Given the description of an element on the screen output the (x, y) to click on. 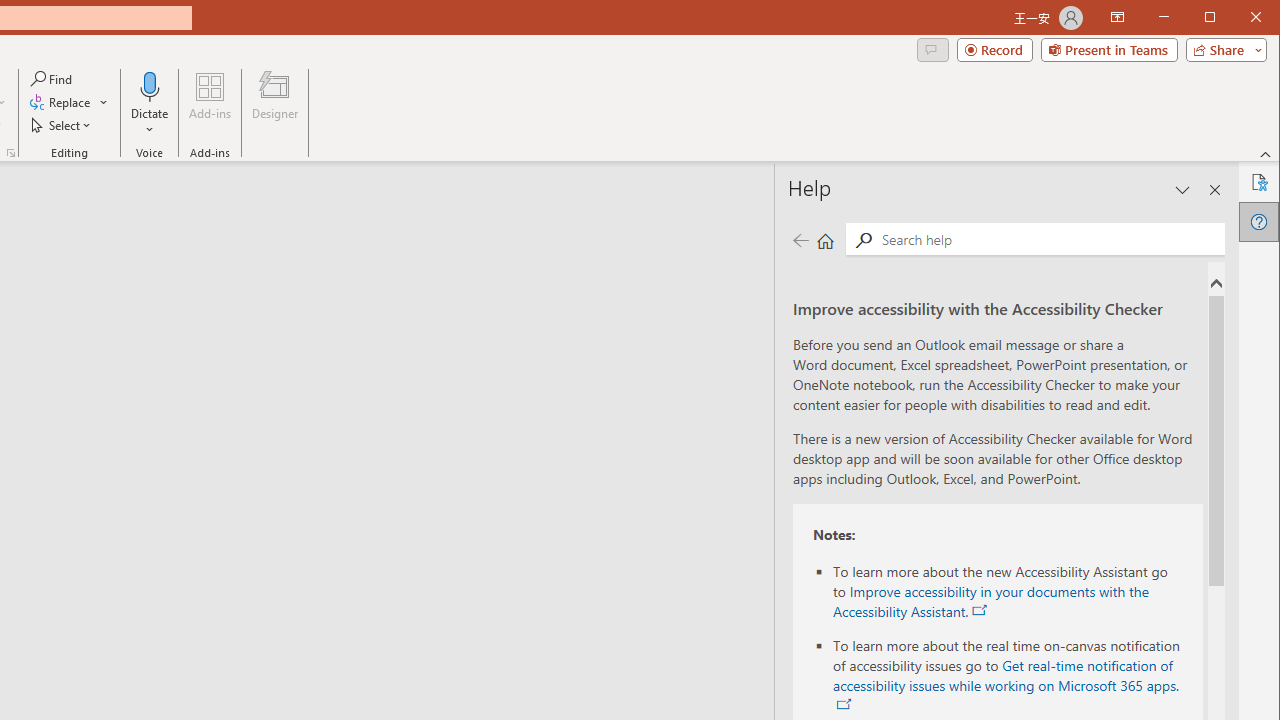
Previous page (800, 240)
Designer (274, 104)
Find... (52, 78)
Maximize (1238, 18)
